Given the description of an element on the screen output the (x, y) to click on. 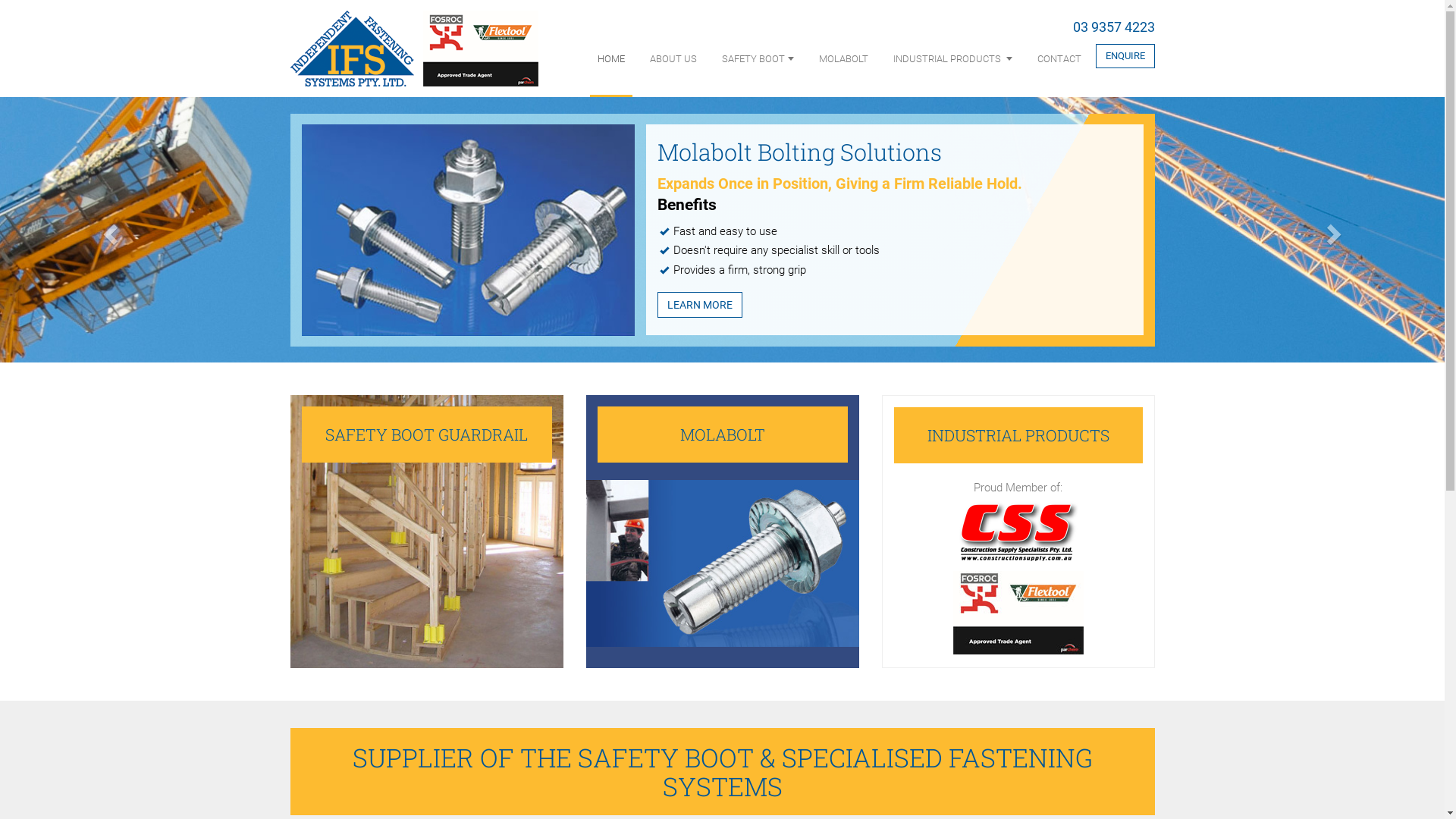
CONTACT Element type: text (1058, 58)
03 9357 4223 Element type: text (1113, 26)
MOLABOLT Element type: text (721, 531)
MOLABOLT Element type: text (843, 58)
Next Element type: text (1335, 229)
SAFETY BOOT Element type: text (757, 58)
HOME Element type: text (610, 58)
ENQUIRE Element type: text (1124, 55)
LEARN MORE Element type: text (699, 304)
INDUSTRIAL PRODUCTS Element type: text (952, 58)
Previous Element type: text (108, 229)
ABOUT US Element type: text (673, 58)
SAFETY BOOT GUARDRAIL Element type: text (425, 531)
